Given the description of an element on the screen output the (x, y) to click on. 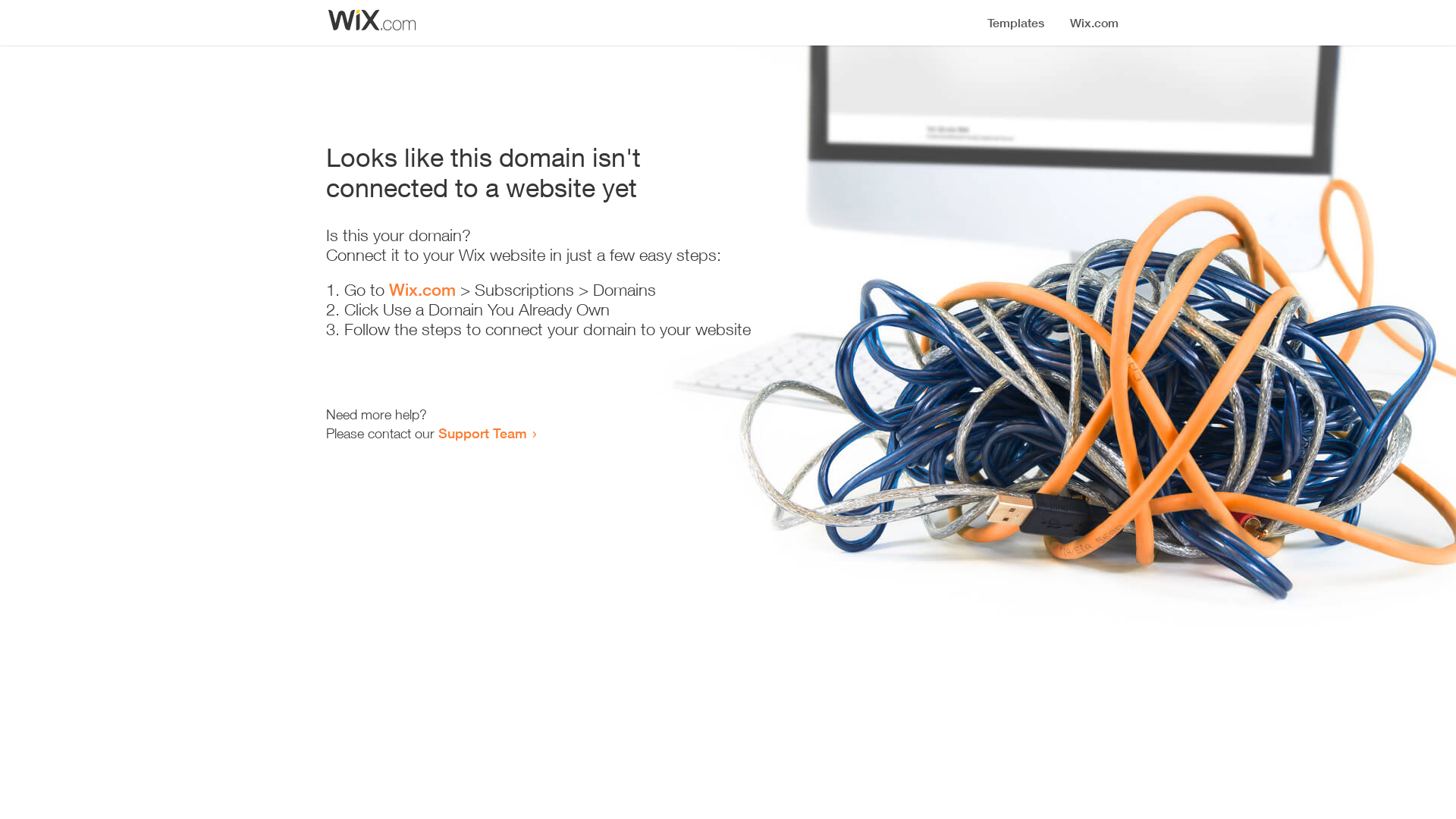
Wix.com Element type: text (422, 289)
Support Team Element type: text (482, 432)
